Given the description of an element on the screen output the (x, y) to click on. 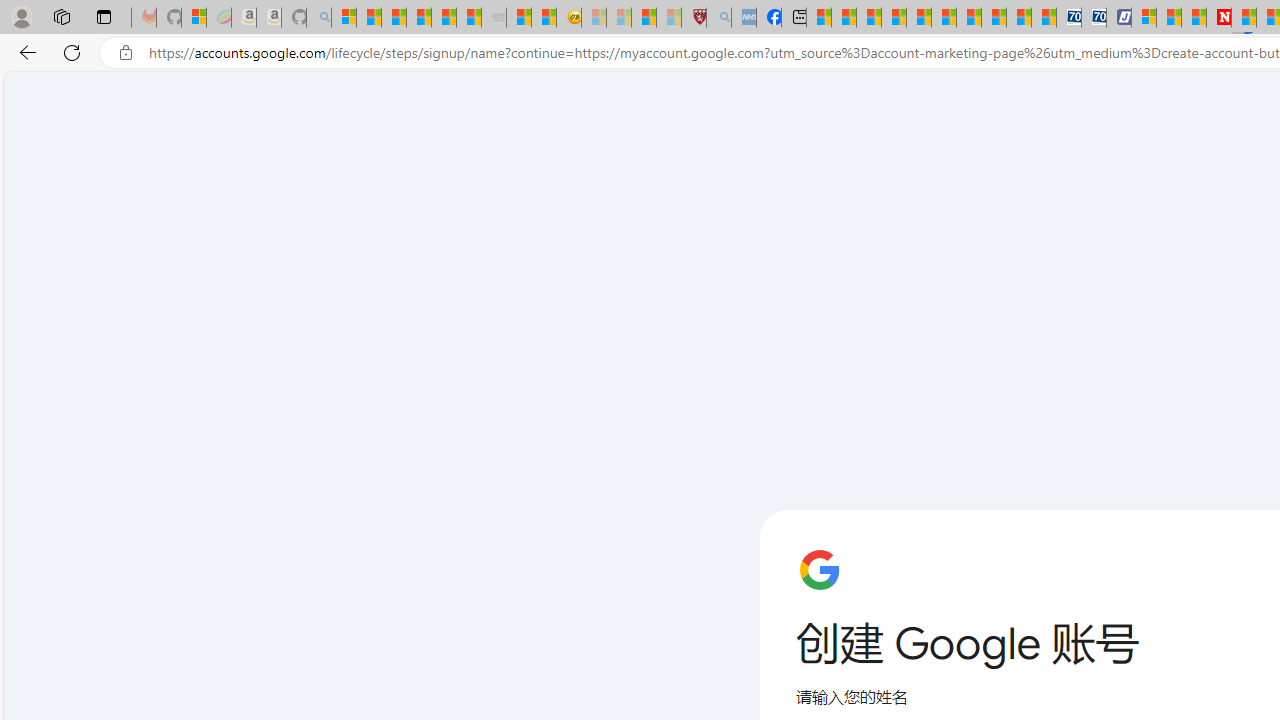
New Report Confirms 2023 Was Record Hot | Watch (443, 17)
12 Popular Science Lies that Must be Corrected - Sleeping (668, 17)
Cheap Hotels - Save70.com (1093, 17)
